Given the description of an element on the screen output the (x, y) to click on. 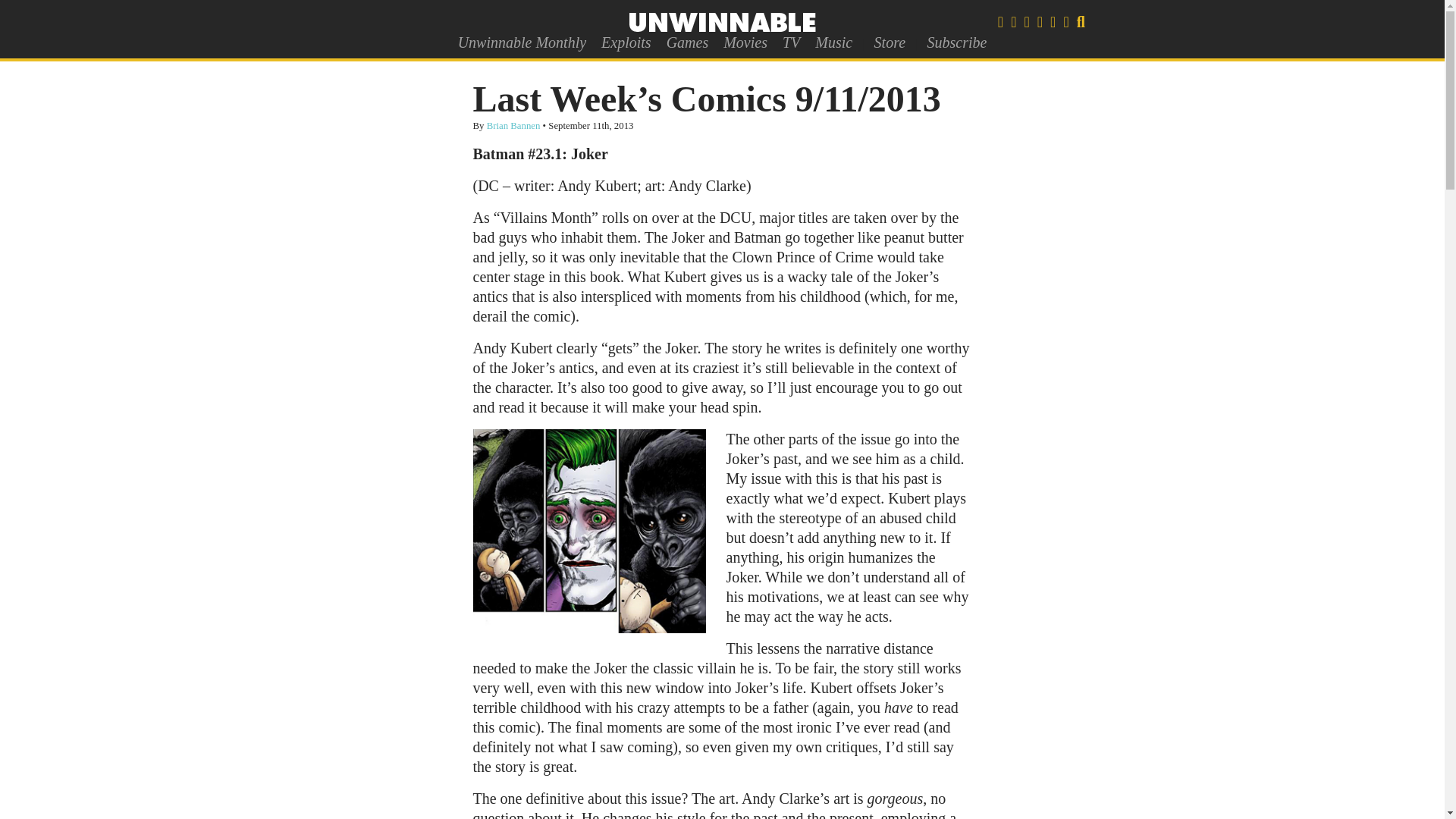
Posts by Brian Bannen (513, 125)
Exploits (626, 42)
Store (889, 42)
Brian Bannen (513, 125)
Unwinnable Monthly (521, 42)
Games (687, 42)
Movies (745, 42)
TV (791, 42)
Subscribe (956, 42)
Music (834, 42)
